Given the description of an element on the screen output the (x, y) to click on. 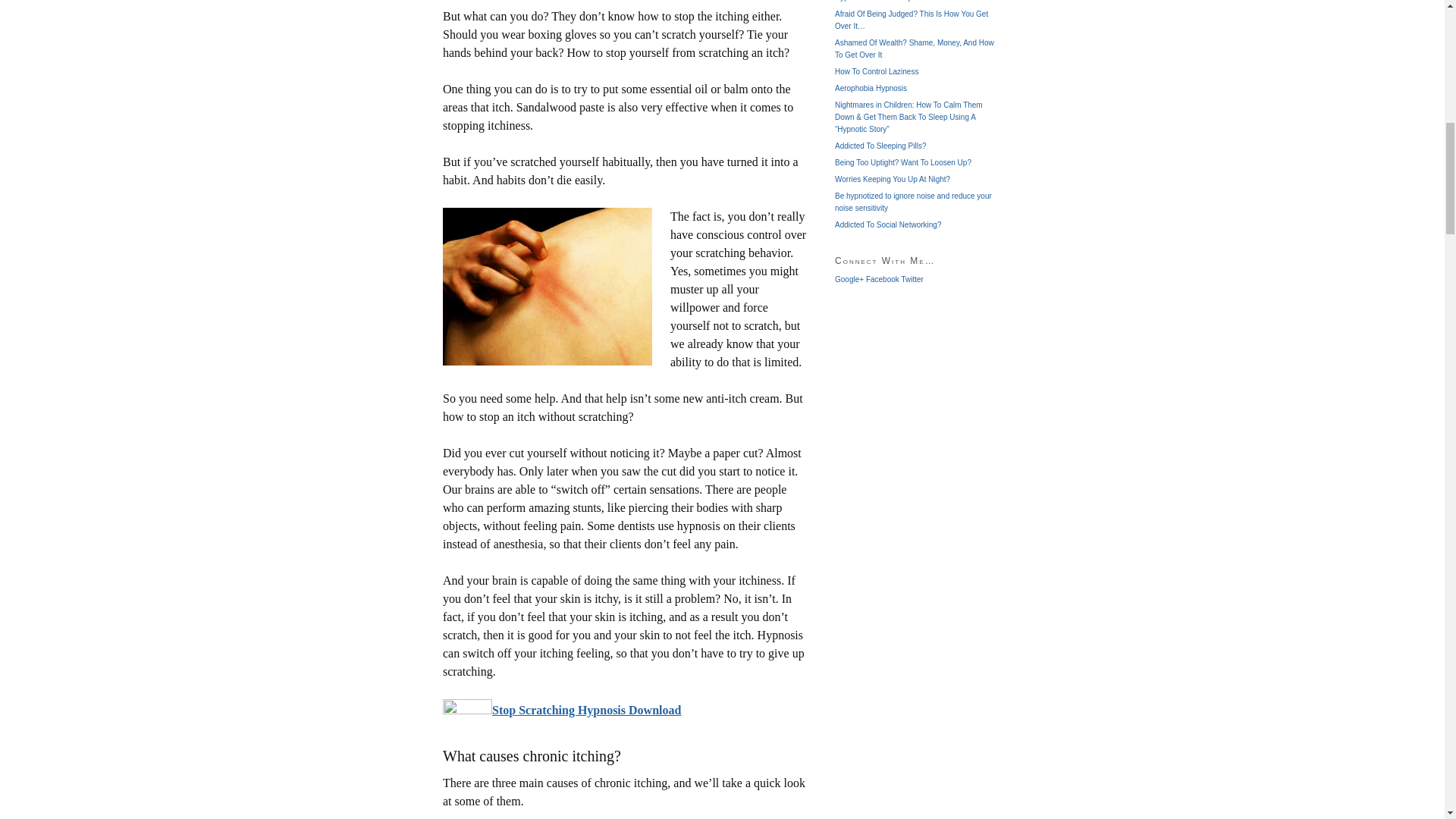
Stop Scratching Hypnosis Download (586, 709)
How To Control Laziness (876, 71)
scratching (547, 286)
Stop Scratching (586, 709)
Addicted To Sleeping Pills? (880, 145)
Addicted To Social Networking? (887, 224)
Aerophobia Hypnosis (870, 88)
Being Too Uptight? Want To Loosen Up? (902, 162)
right arrow (467, 706)
Hypnosis For Jealousy (872, 0)
